Given the description of an element on the screen output the (x, y) to click on. 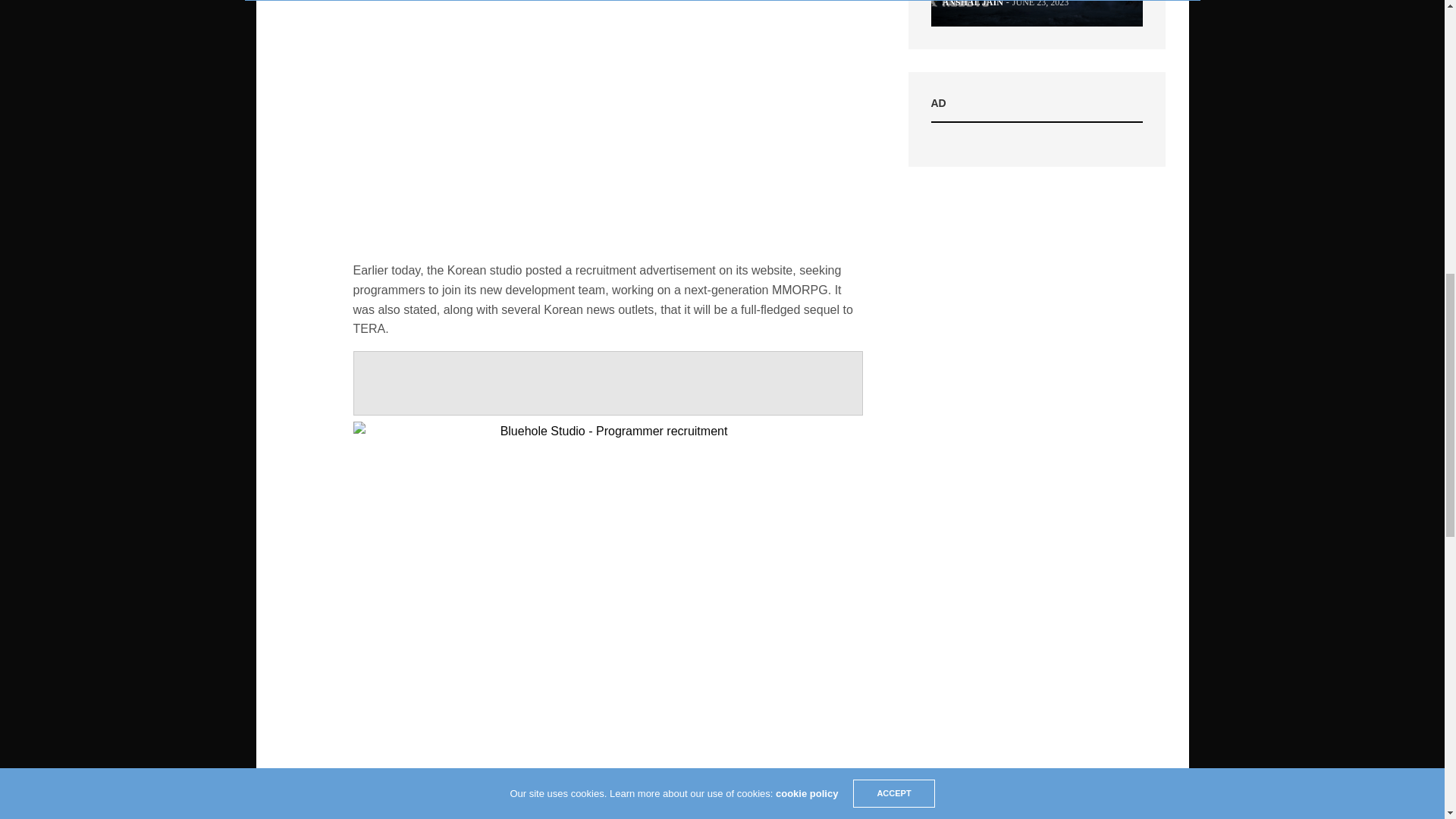
Posts by Anshal Jain (972, 7)
